Given the description of an element on the screen output the (x, y) to click on. 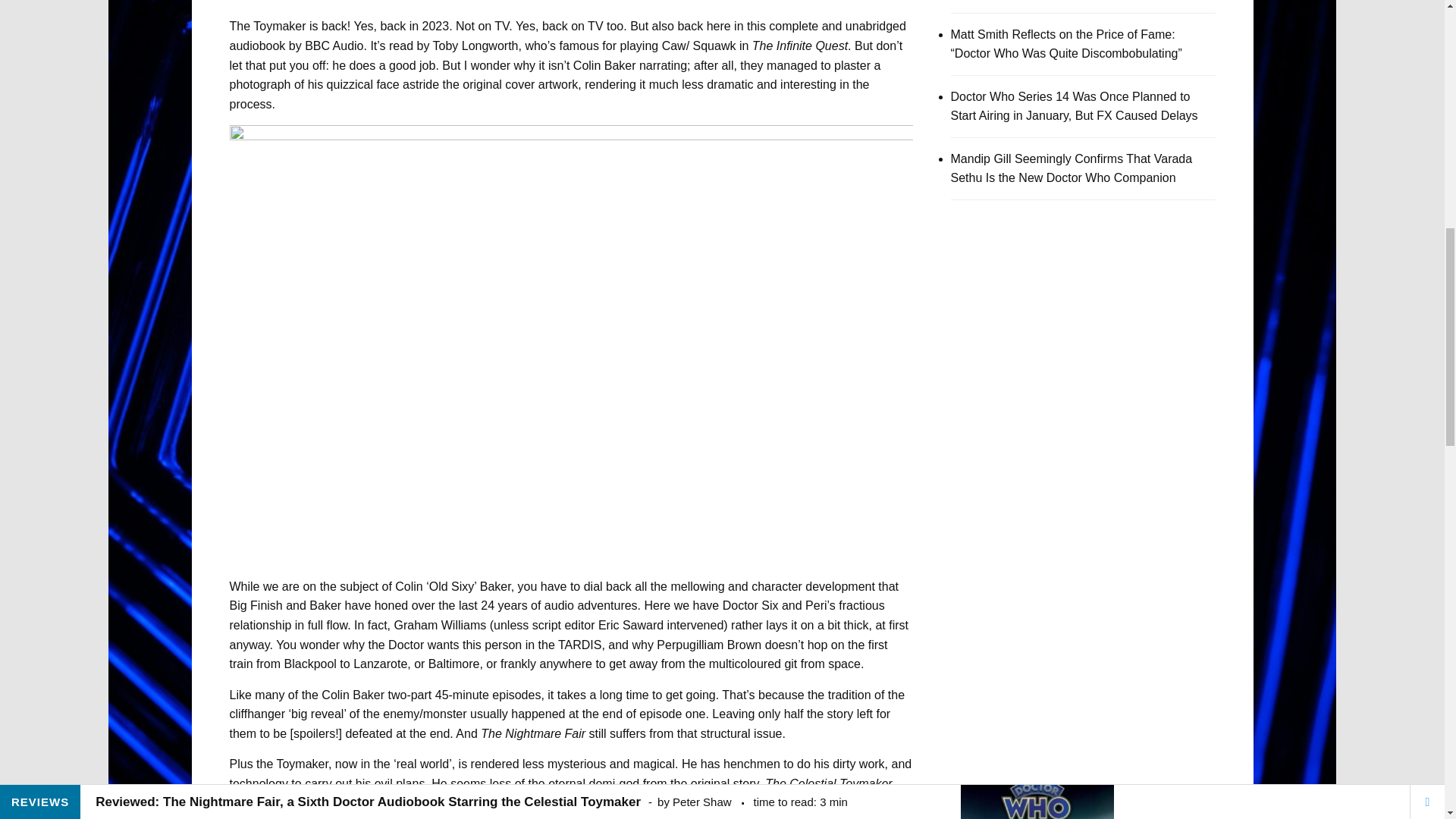
Share on Twitter (861, 18)
Share on Facebook (828, 18)
Share on Pinterest (928, 18)
Share on Linkedin (895, 18)
